Given the description of an element on the screen output the (x, y) to click on. 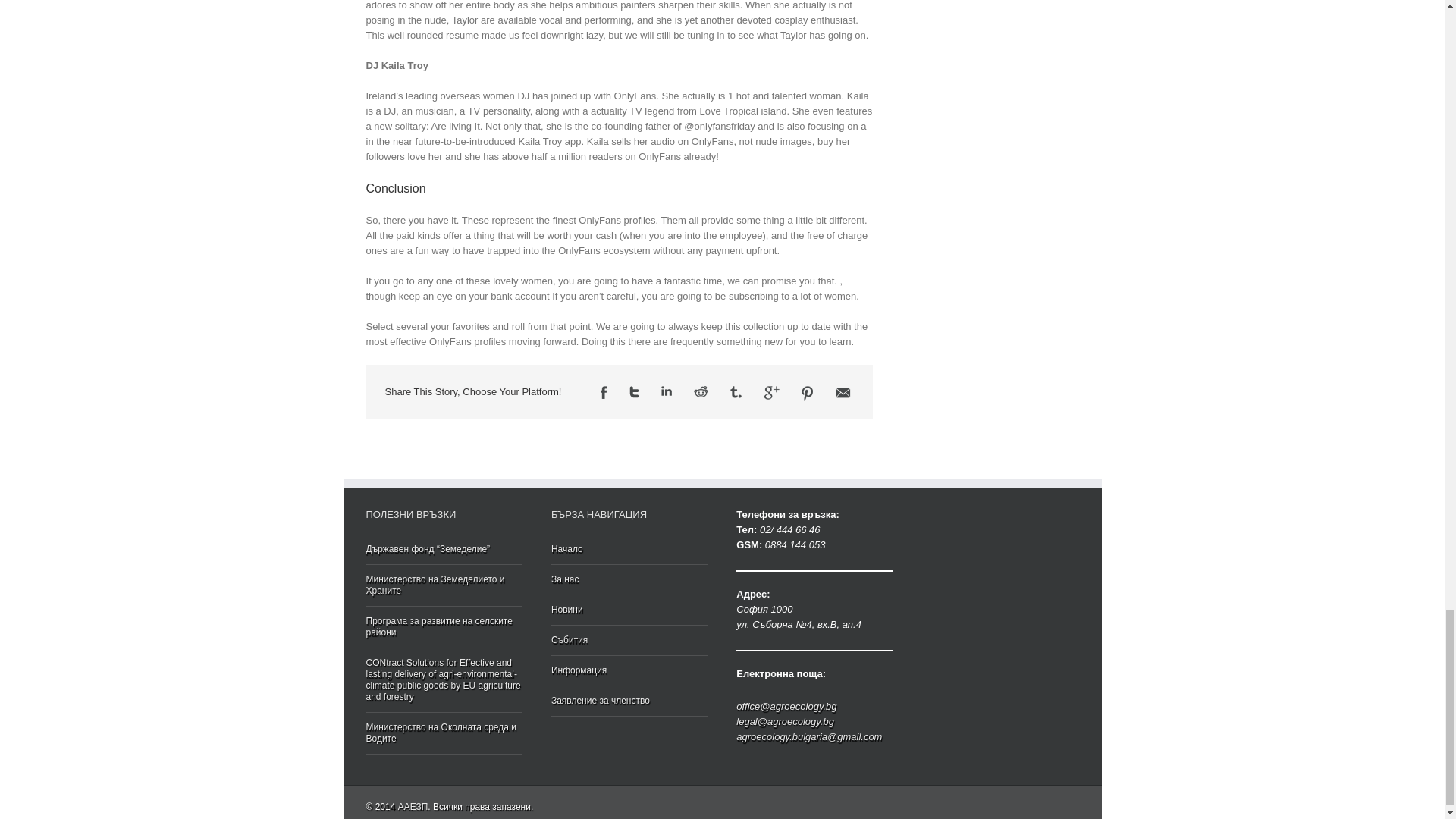
Facebook (603, 391)
Pinterest (807, 393)
Twitter (633, 391)
Email (842, 392)
LinkedIn (666, 390)
Tumblr (735, 391)
Reddit (700, 391)
